Given the description of an element on the screen output the (x, y) to click on. 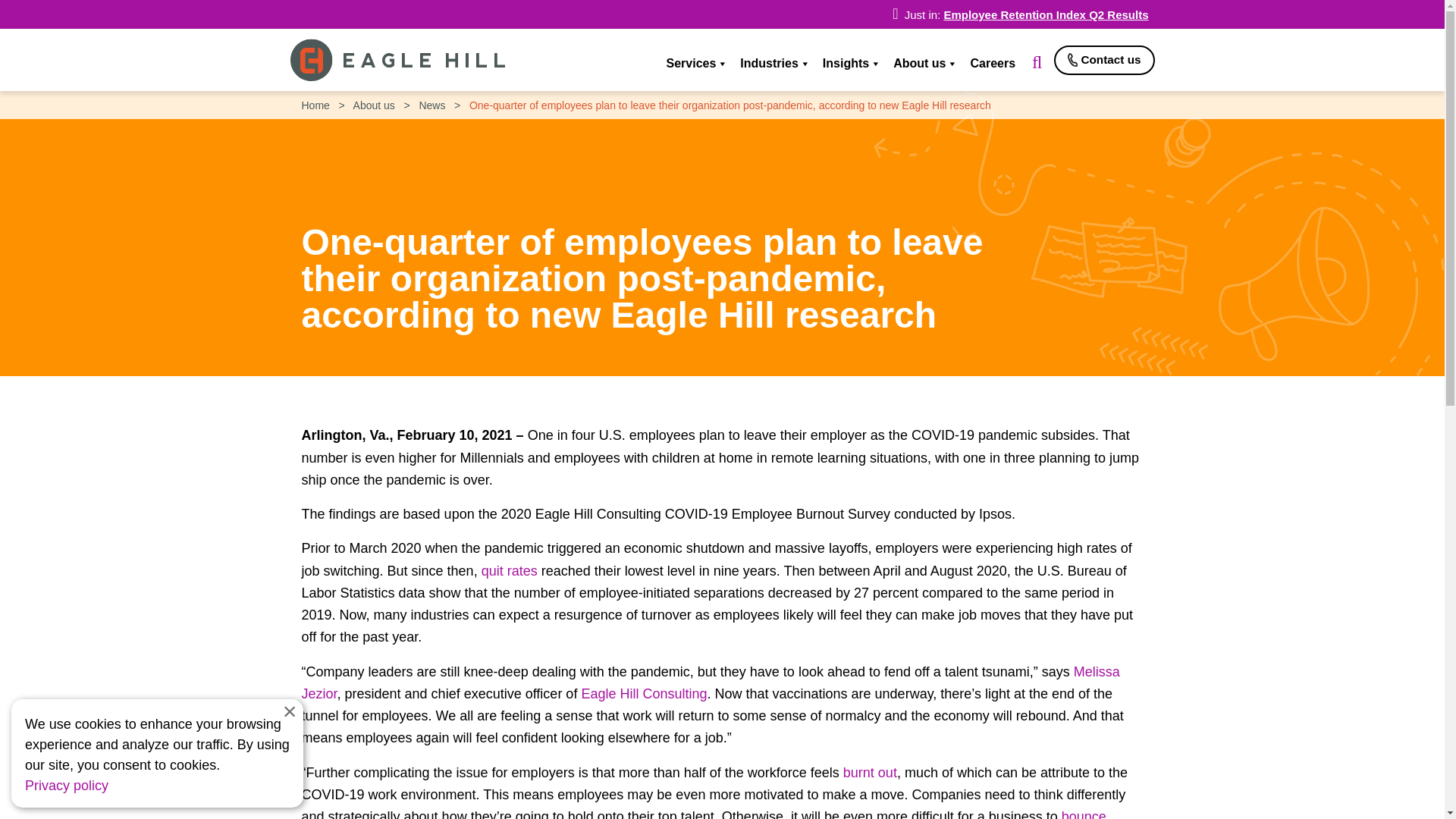
Insights (850, 63)
Privacy policy (65, 785)
Employee Retention Index Q2 Results (1045, 14)
Services (695, 63)
Industries (772, 63)
